Given the description of an element on the screen output the (x, y) to click on. 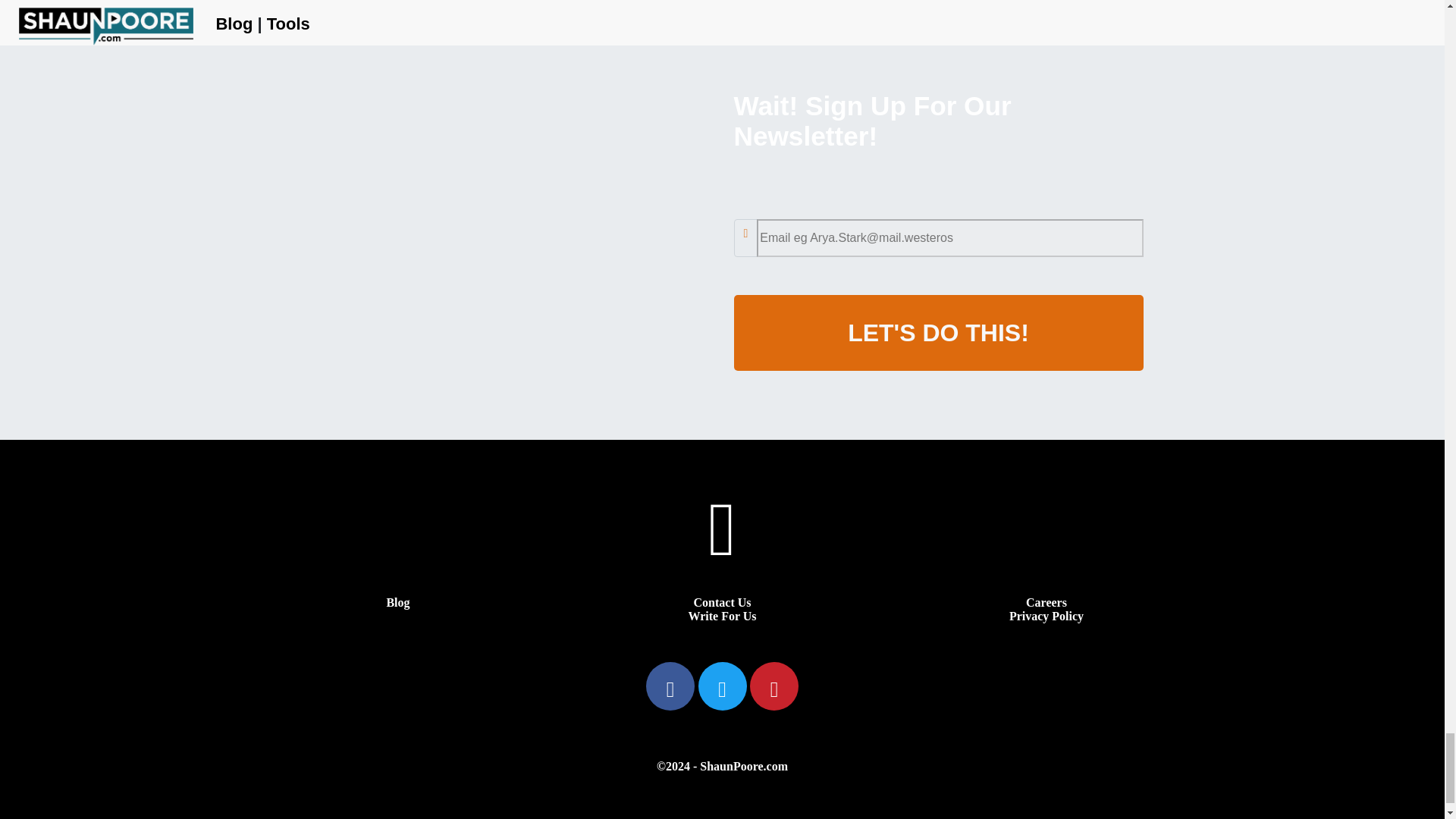
Follow us on Facebook (671, 692)
Post Comment (496, 9)
Follow us on Pinterest (773, 692)
Follow us on Twitter (723, 692)
Check Out My YouTube Channel! (721, 550)
